Given the description of an element on the screen output the (x, y) to click on. 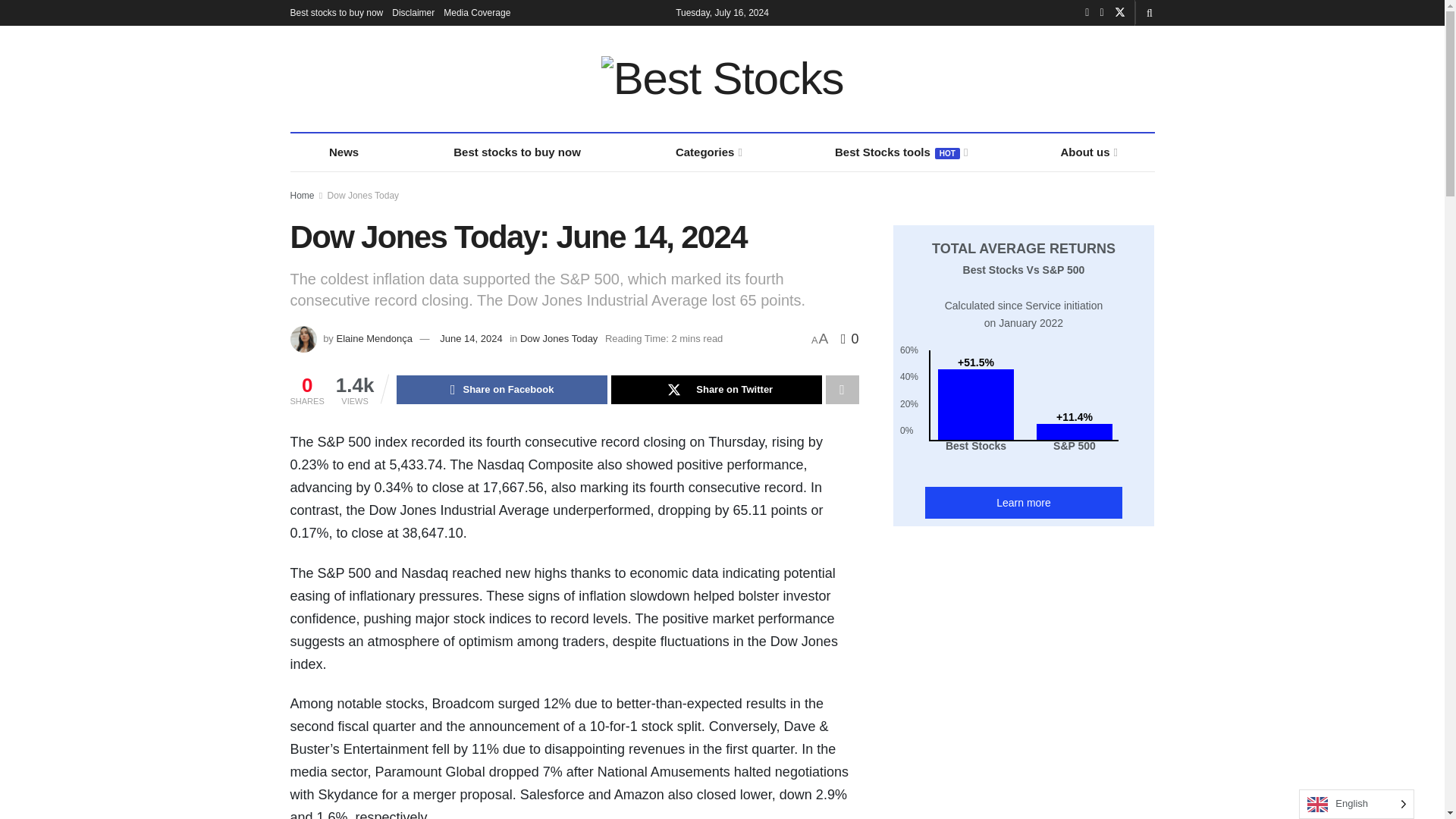
June 14, 2024 (470, 337)
News (343, 152)
Dow Jones Today (557, 337)
0 (850, 338)
About us (1088, 152)
Media Coverage (477, 12)
Share on Facebook (501, 389)
Home (301, 195)
Best stocks to buy now (517, 152)
Categories (707, 152)
Best stocks to buy now (335, 12)
Best Stocks toolsHOT (899, 152)
Dow Jones Today (362, 195)
Disclaimer (412, 12)
